Given the description of an element on the screen output the (x, y) to click on. 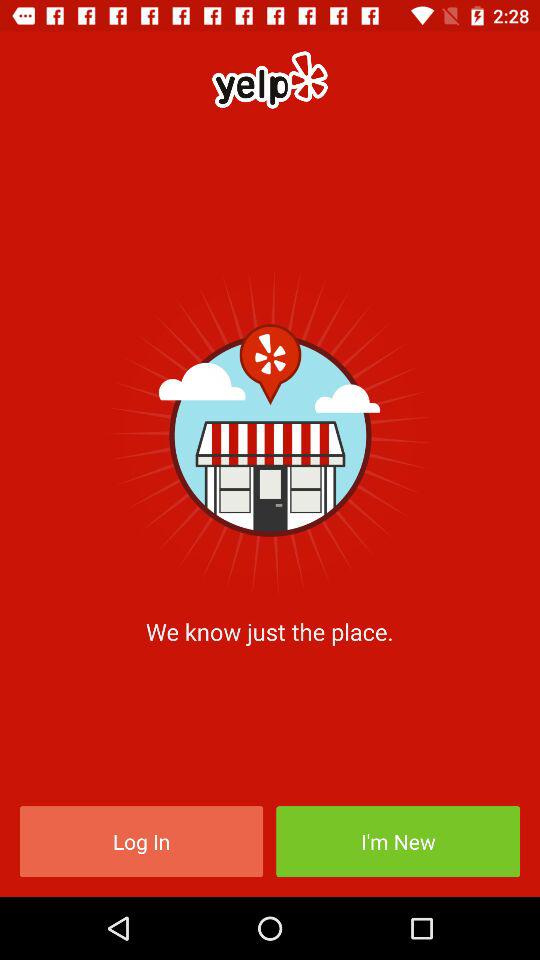
open the item next to the log in (398, 841)
